Given the description of an element on the screen output the (x, y) to click on. 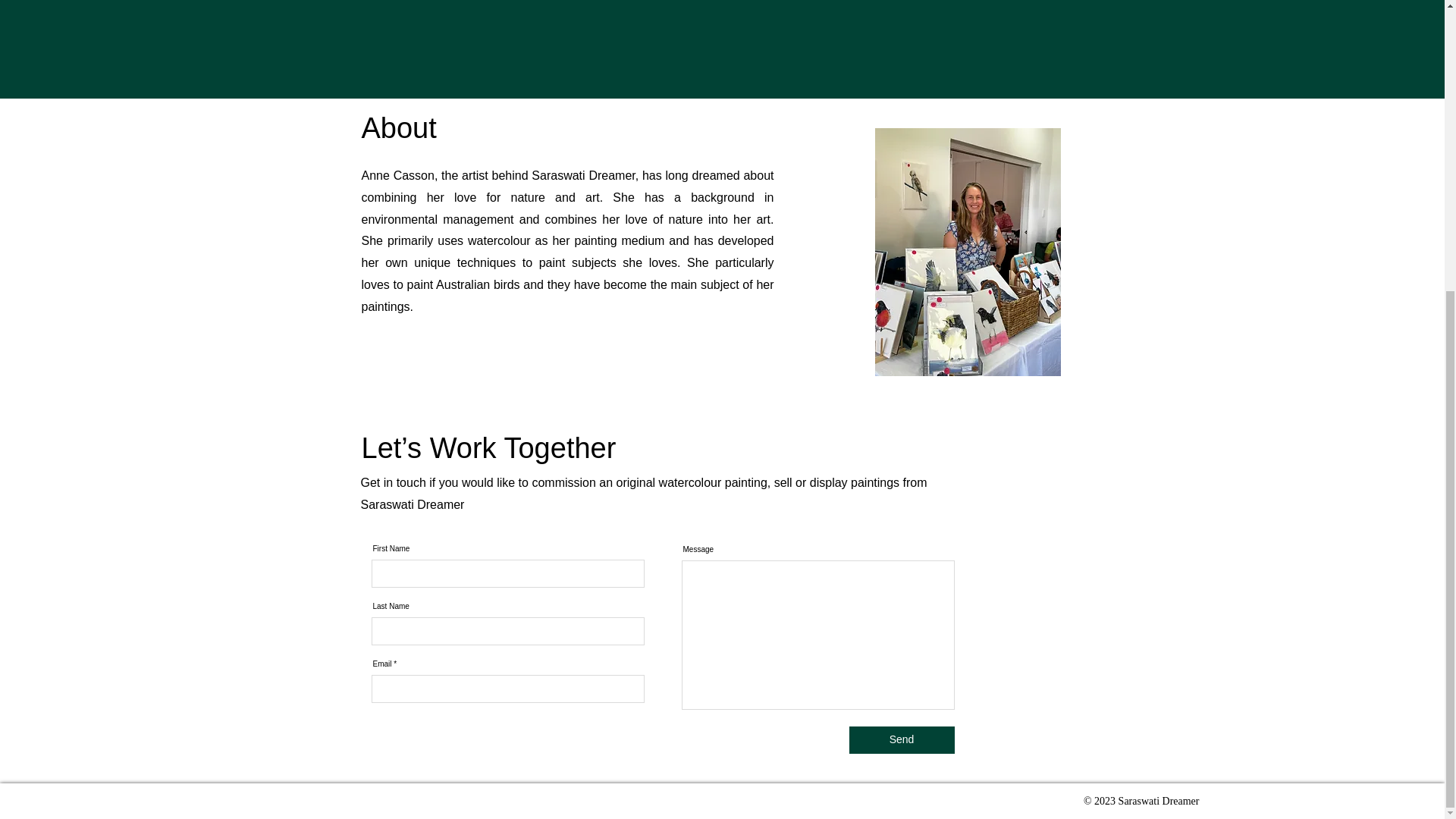
Send (901, 739)
